Given the description of an element on the screen output the (x, y) to click on. 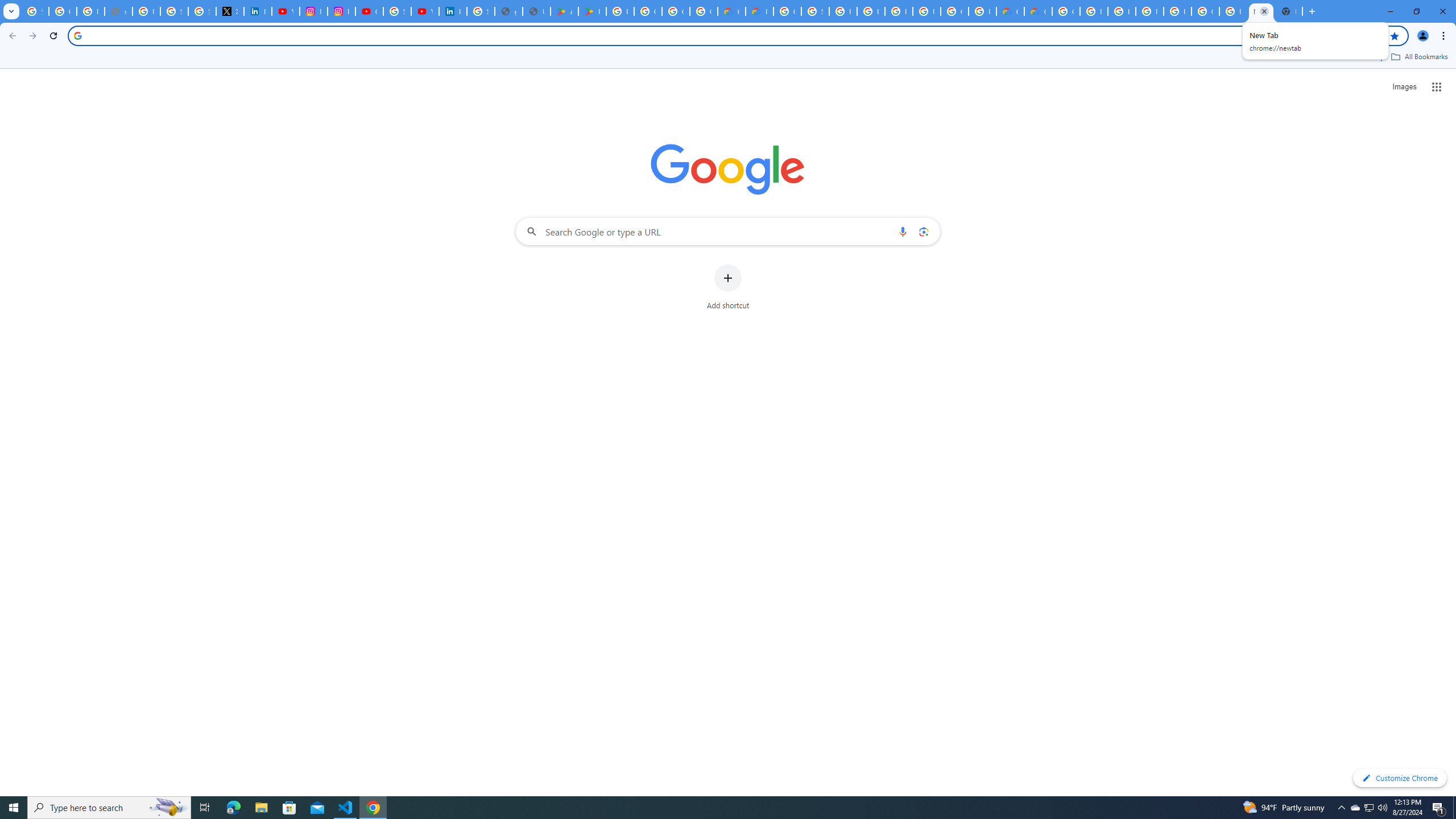
Google Cloud Estimate Summary (1038, 11)
Google Cloud Platform (1065, 11)
New Tab (1288, 11)
PAW Patrol Rescue World - Apps on Google Play (592, 11)
Search by voice (902, 230)
LinkedIn Privacy Policy (257, 11)
Sign in - Google Accounts (397, 11)
